Given the description of an element on the screen output the (x, y) to click on. 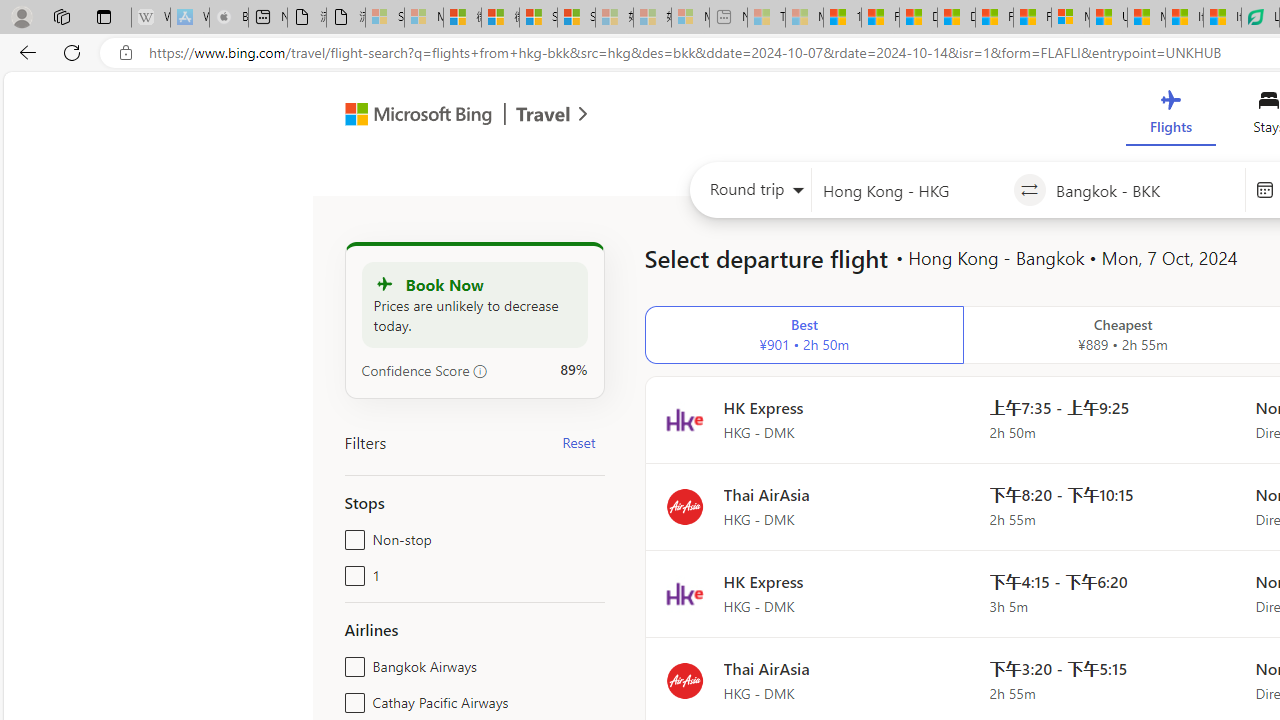
Buy iPad - Apple - Sleeping (228, 17)
Microsoft Services Agreement - Sleeping (423, 17)
Swap source and destination (1028, 189)
Class: msft-travel-logo (543, 114)
Food and Drink - MSN (879, 17)
Travel (543, 116)
Flight logo (684, 680)
Going to? (1145, 190)
US Heat Deaths Soared To Record High Last Year (1108, 17)
